Given the description of an element on the screen output the (x, y) to click on. 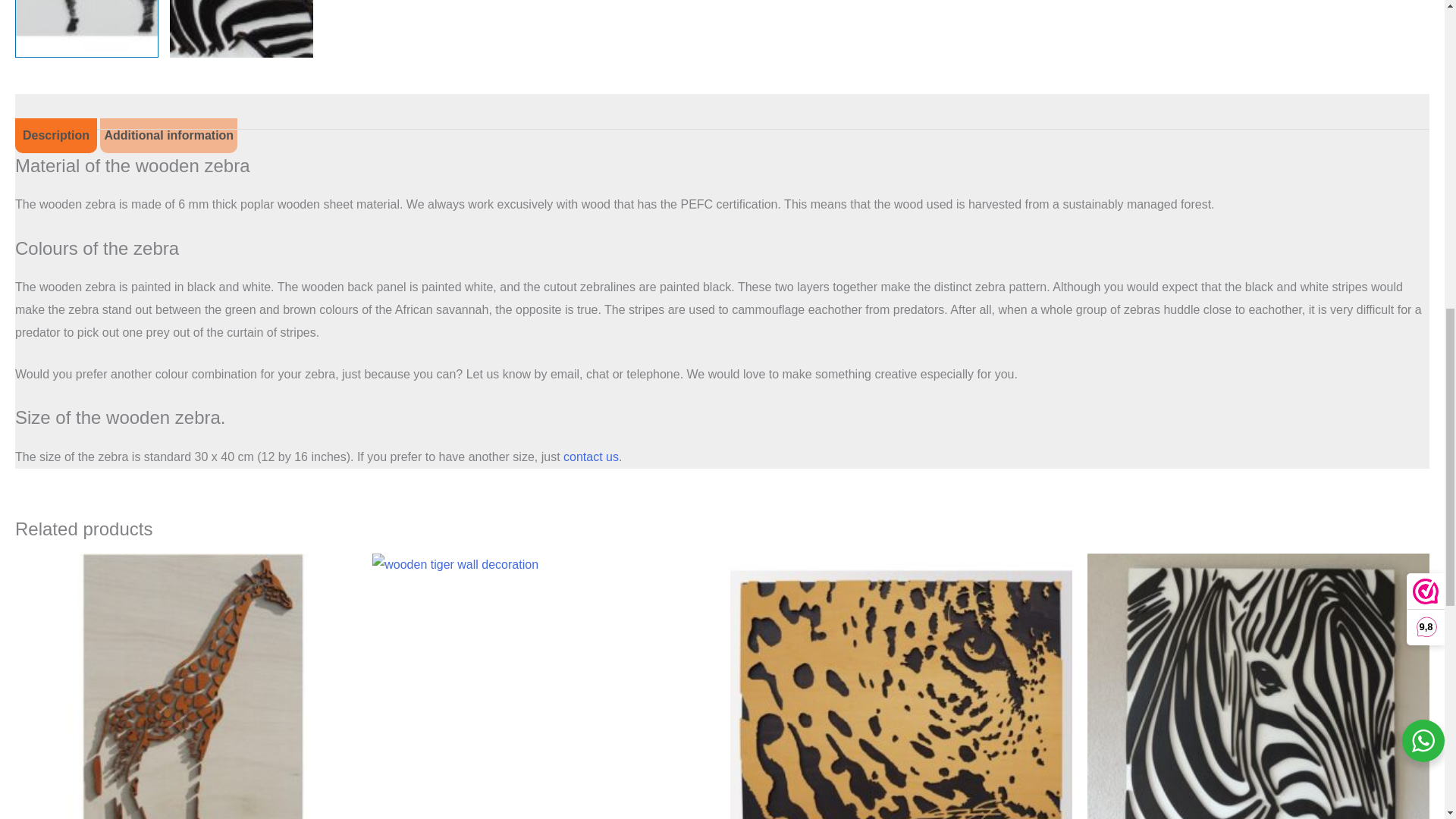
Additional information (167, 135)
Description (55, 135)
